Given the description of an element on the screen output the (x, y) to click on. 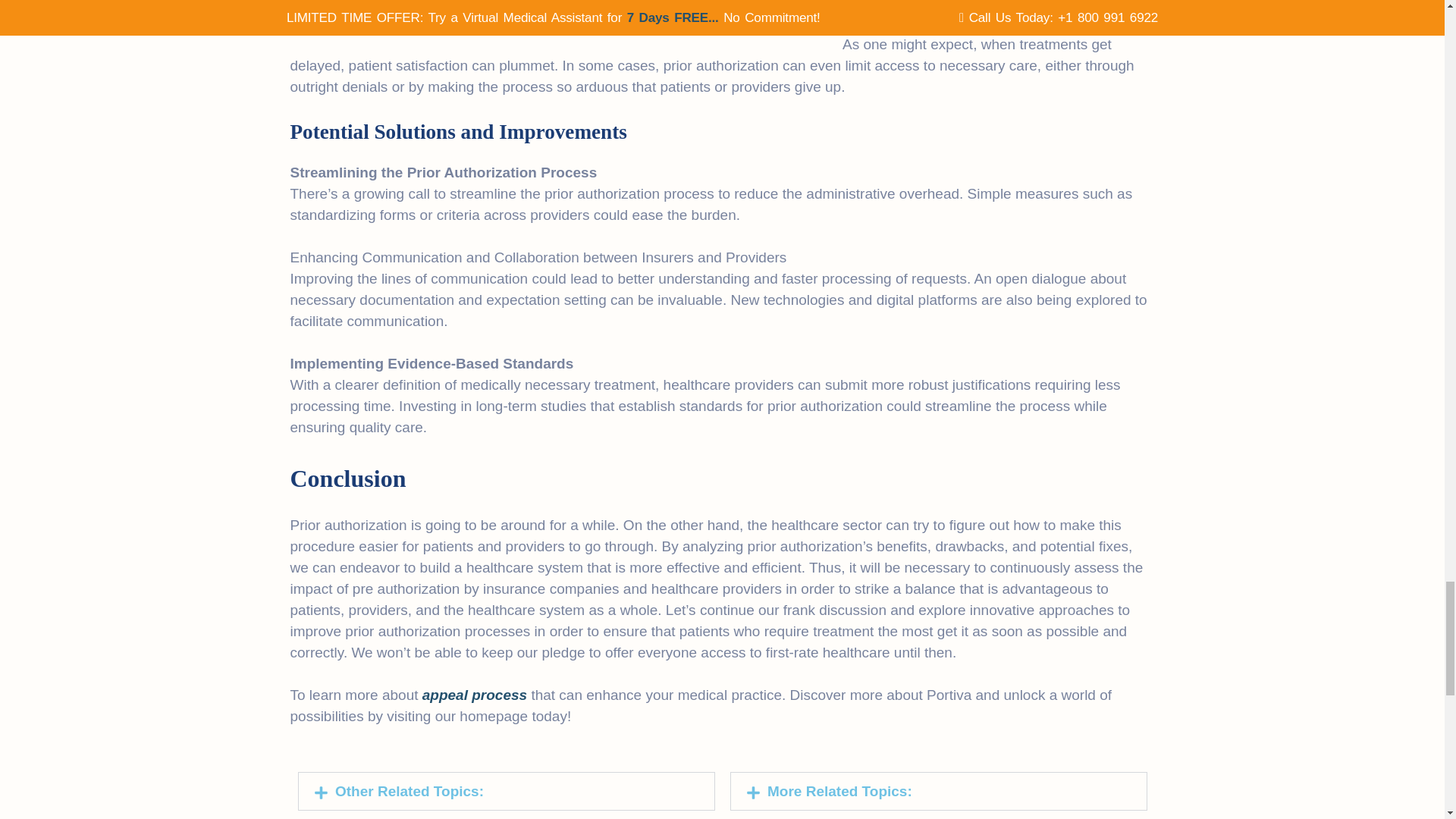
Other Related Topics: (408, 790)
appeal process (474, 694)
